Given the description of an element on the screen output the (x, y) to click on. 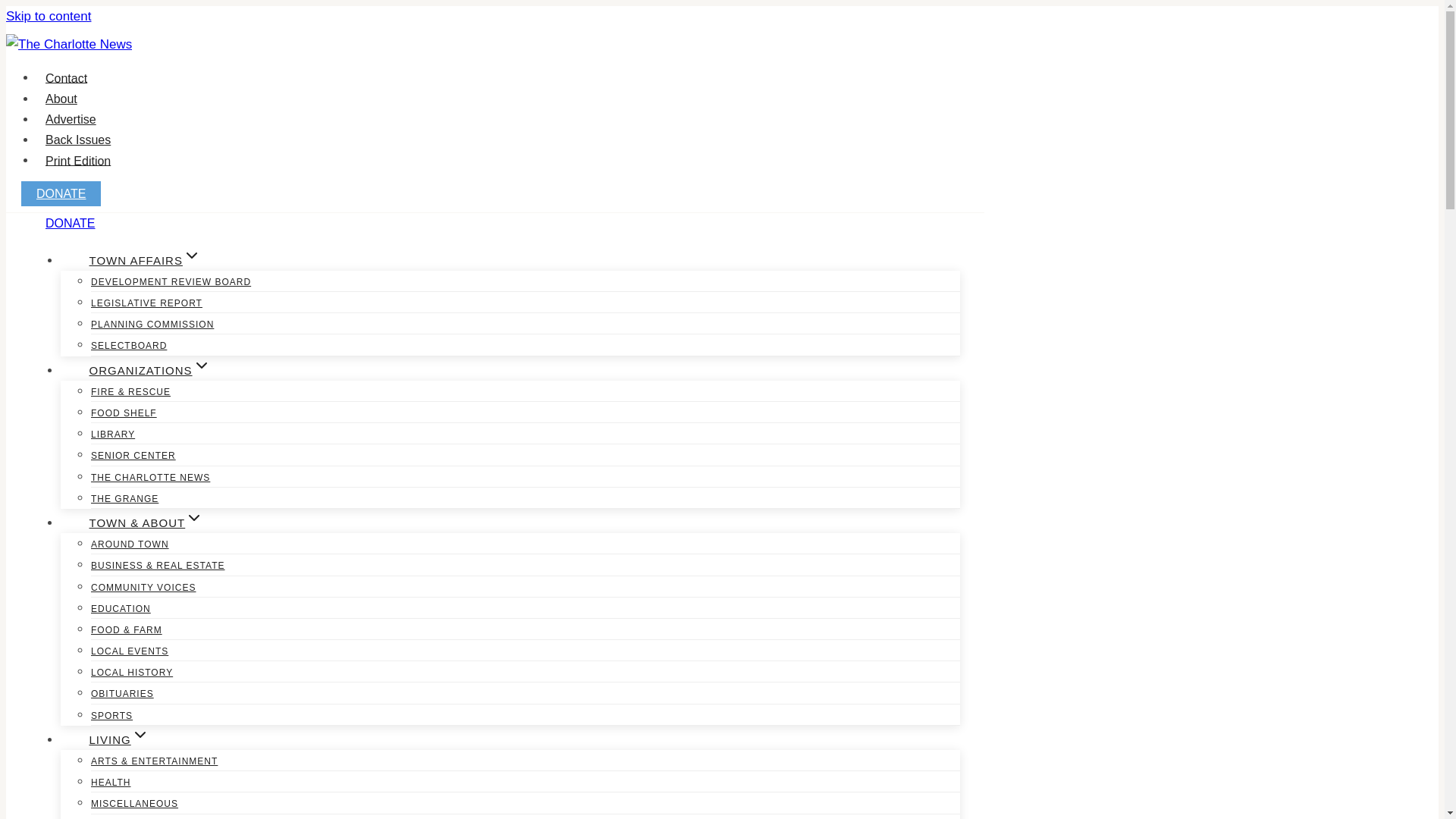
LOCAL EVENTS (129, 651)
EXPAND (191, 255)
THE CHARLOTTE NEWS (149, 477)
EXPAND (140, 734)
SENIOR CENTER (133, 455)
ORGANIZATIONSEXPAND (149, 369)
DONATE (60, 193)
SPORTS (111, 715)
AROUND TOWN (129, 543)
SELECTBOARD (128, 345)
DEVELOPMENT REVIEW BOARD (170, 281)
TOWN AFFAIRSEXPAND (144, 259)
COMMUNITY VOICES (142, 587)
MISCELLANEOUS (133, 803)
Print Edition (77, 160)
